Given the description of an element on the screen output the (x, y) to click on. 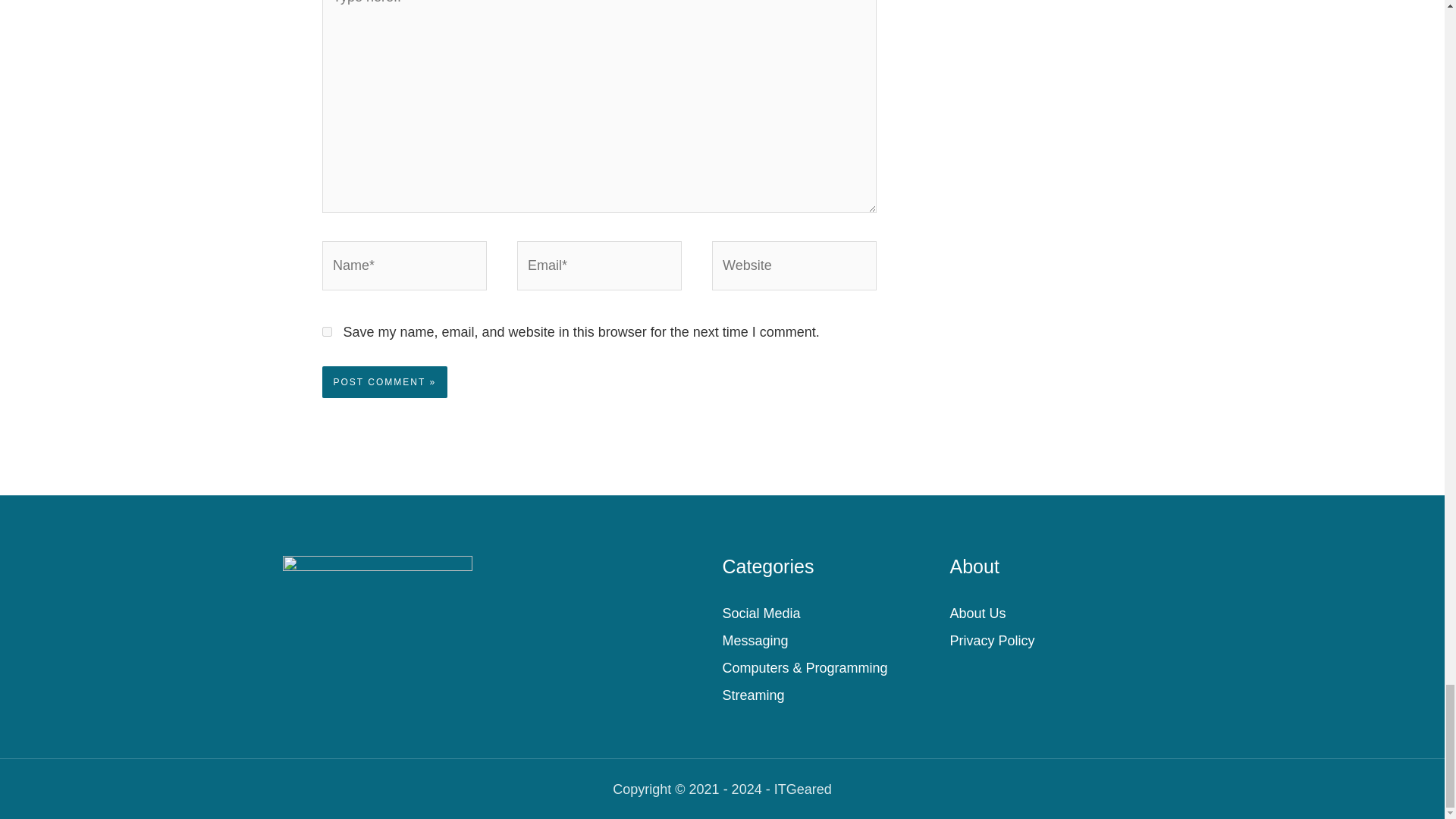
yes (326, 331)
